Given the description of an element on the screen output the (x, y) to click on. 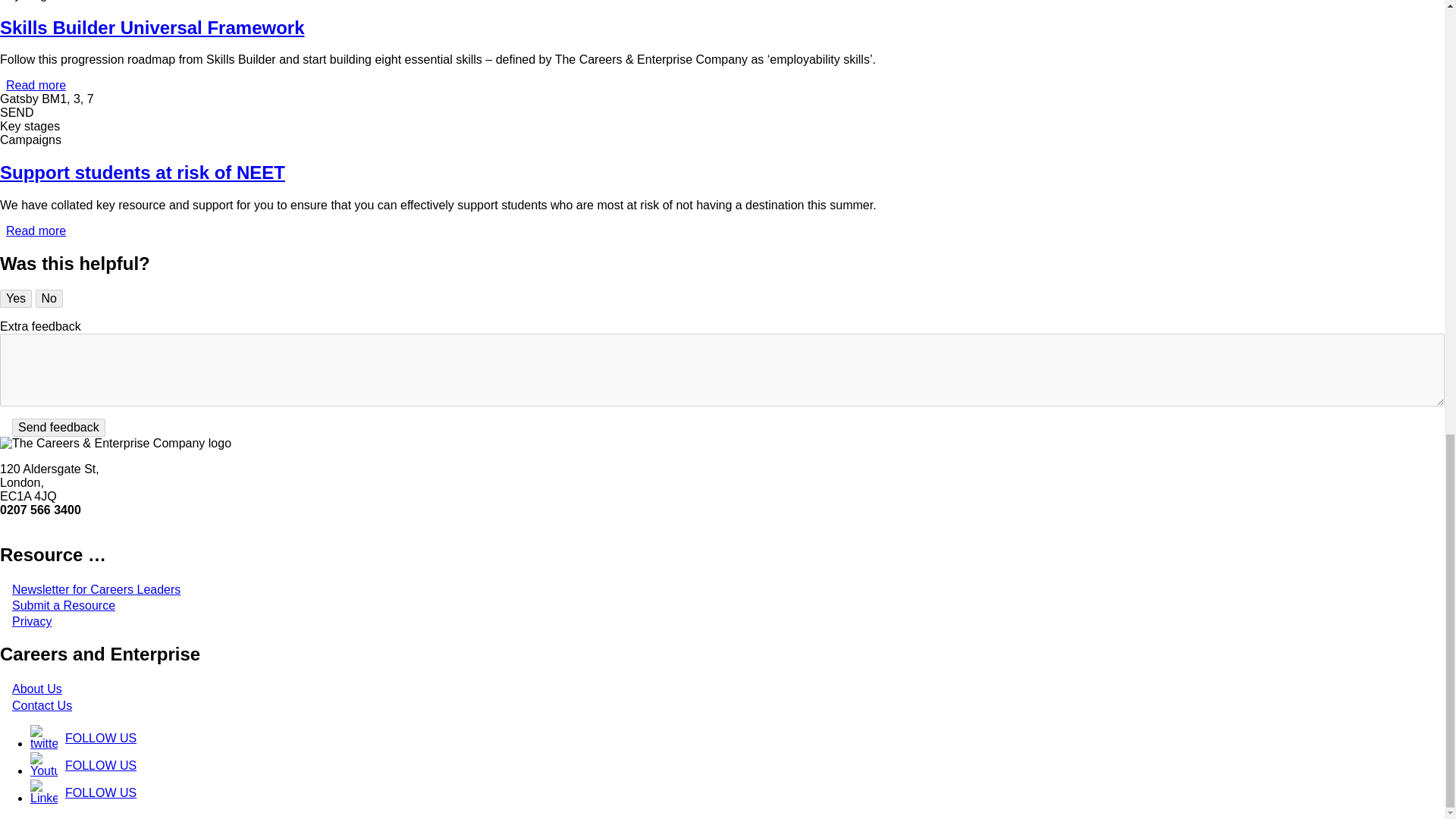
Yes (16, 298)
About Us (36, 688)
Support students at risk of NEET (35, 230)
Skills Builder Universal Framework (35, 84)
Newsletter for Careers Leaders (35, 84)
Submit a Resource (95, 589)
Send feedback (63, 604)
Privacy (57, 427)
Contact Us (30, 621)
